Given the description of an element on the screen output the (x, y) to click on. 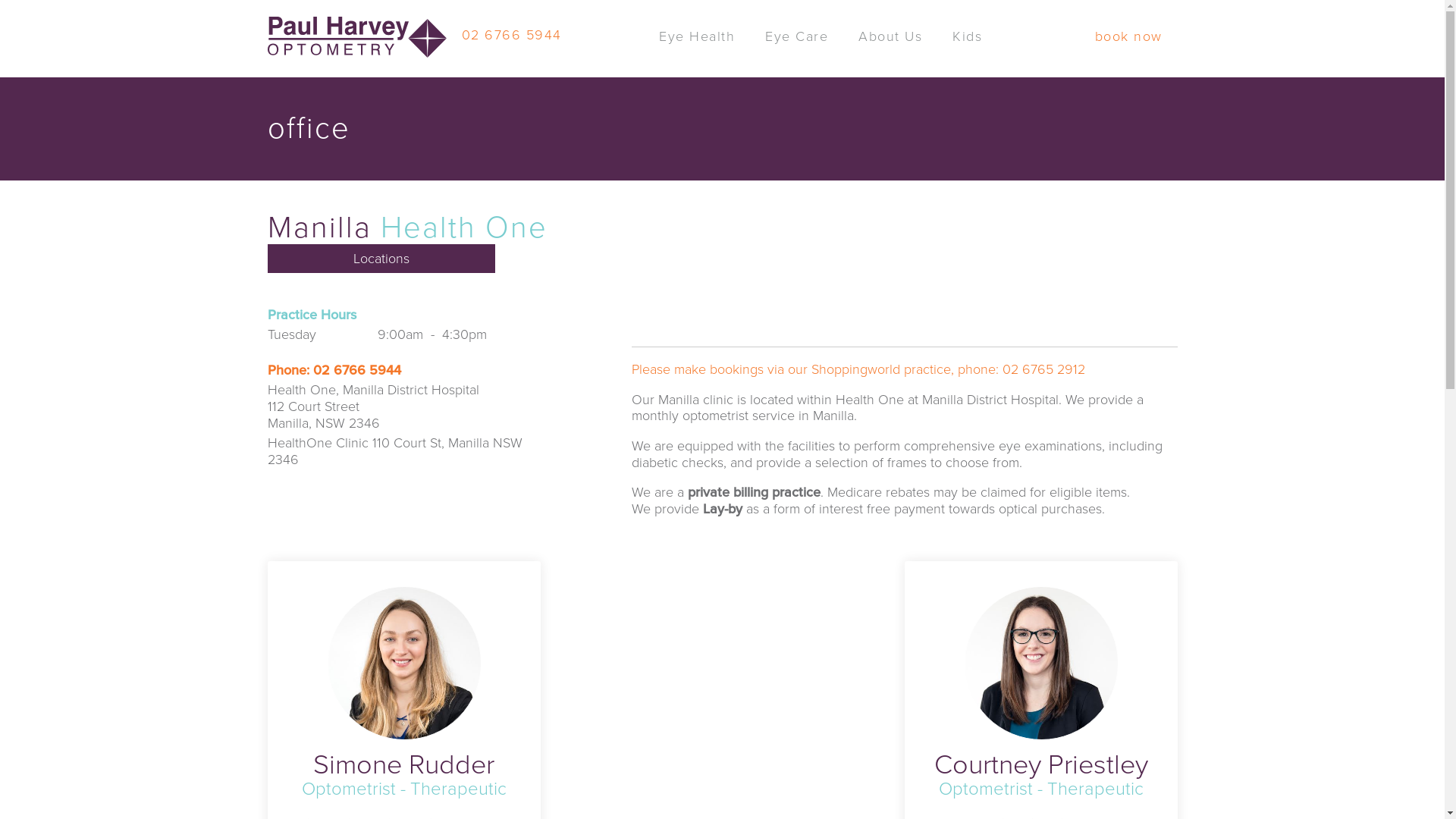
Eye Care Element type: text (796, 47)
About Us Element type: text (890, 47)
02 6766 5944 Element type: text (511, 28)
Eye Health Element type: text (696, 47)
book now Element type: text (1127, 46)
Kids Element type: text (967, 47)
02 6766 5944 Element type: text (356, 369)
Locations Element type: text (380, 258)
